Given the description of an element on the screen output the (x, y) to click on. 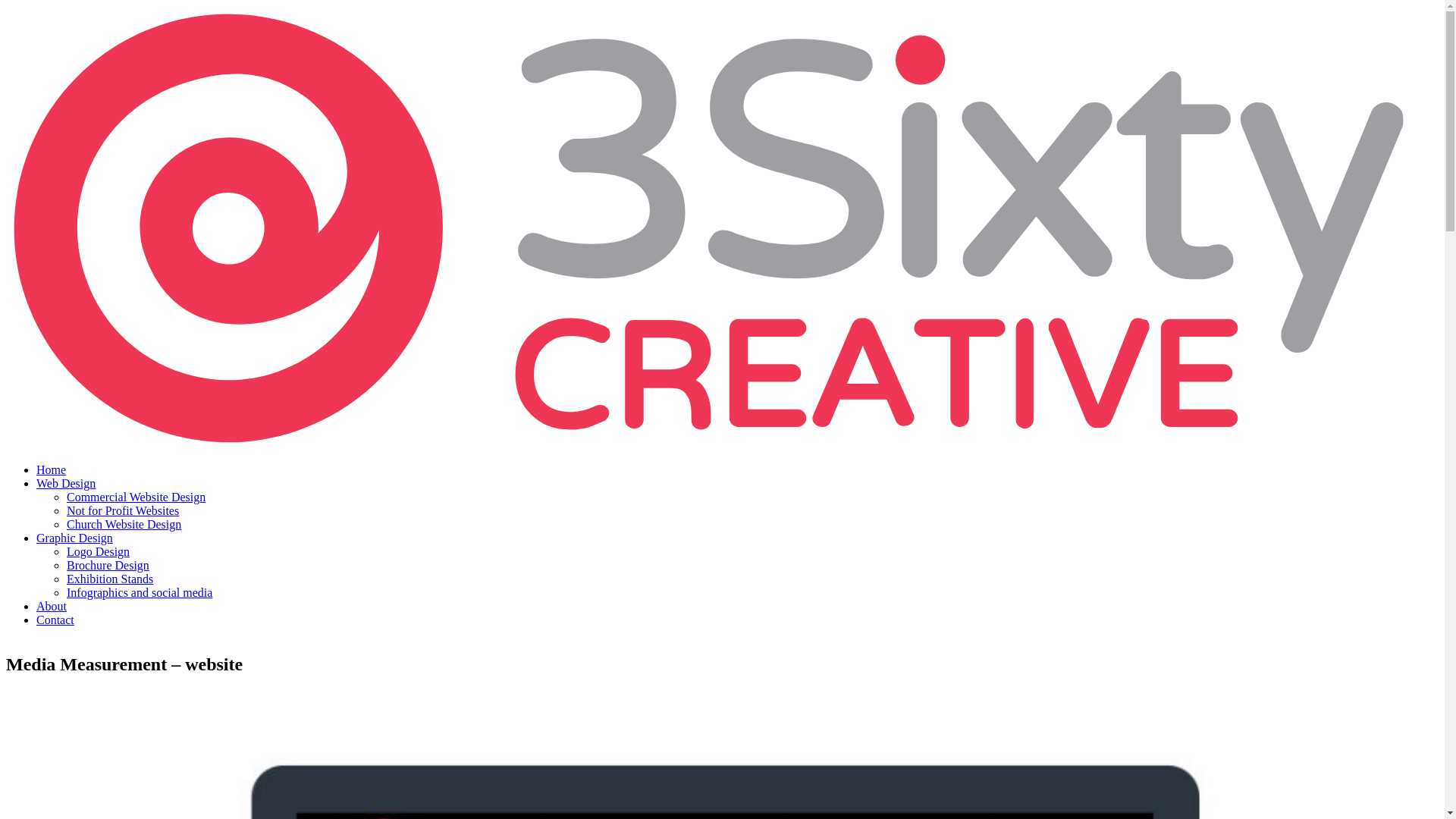
Contact Element type: text (55, 619)
About Element type: text (51, 605)
Graphic Design Element type: text (74, 537)
Logo Design Element type: text (97, 551)
Infographics and social media Element type: text (139, 592)
Not for Profit Websites Element type: text (122, 510)
Exhibition Stands Element type: text (109, 578)
Home Element type: text (50, 469)
3Sixty Creative Element type: hover (722, 227)
Web Design Element type: text (65, 482)
3Sixty Creative Element type: hover (722, 443)
Commercial Website Design Element type: text (135, 496)
Brochure Design Element type: text (107, 564)
Church Website Design Element type: text (123, 523)
